Given the description of an element on the screen output the (x, y) to click on. 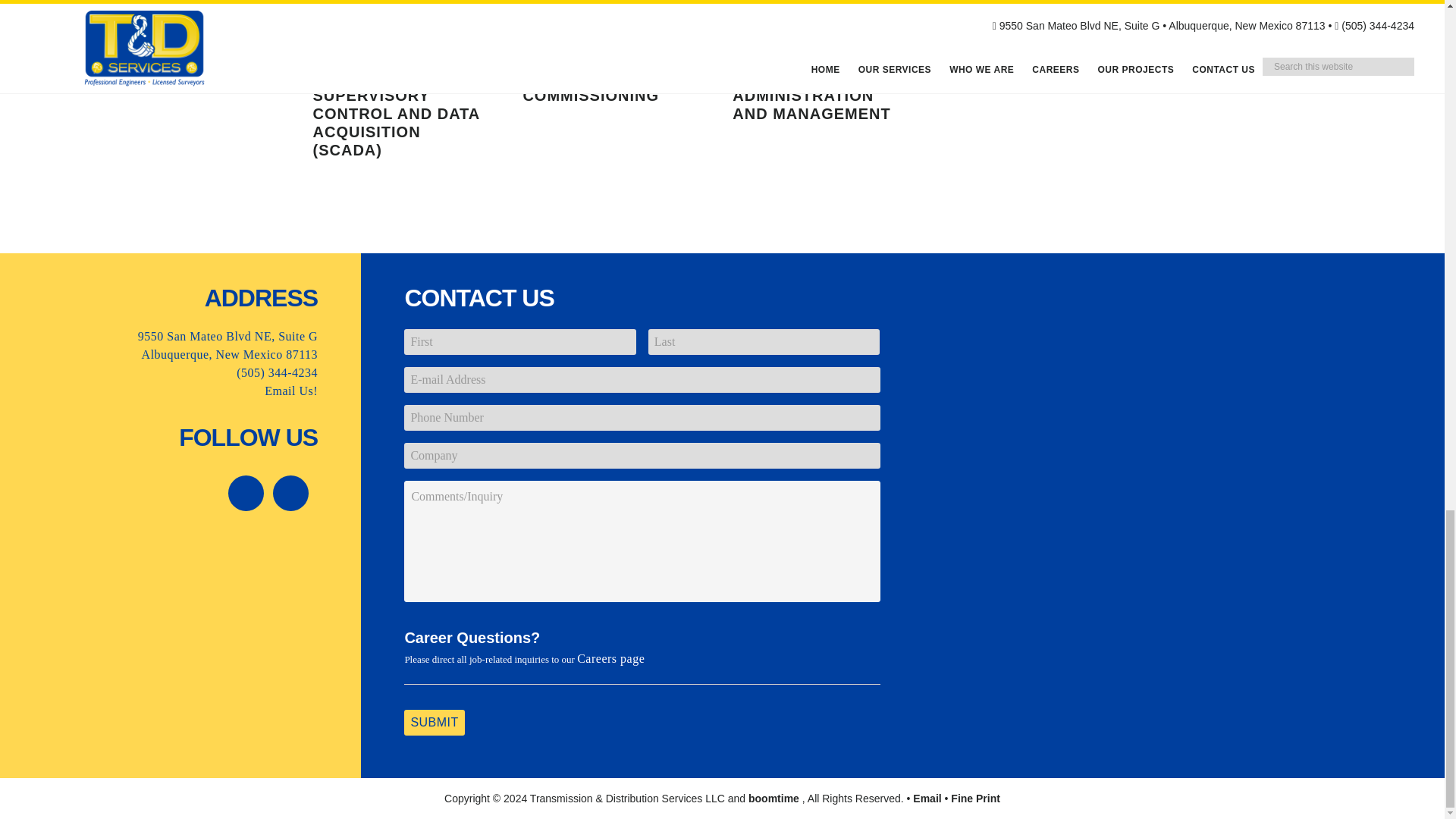
Send us an email (926, 798)
Read our Privacy Policy and Terms and Conditions (975, 798)
This site is powered by boomtime (773, 798)
Submit (434, 722)
